Given the description of an element on the screen output the (x, y) to click on. 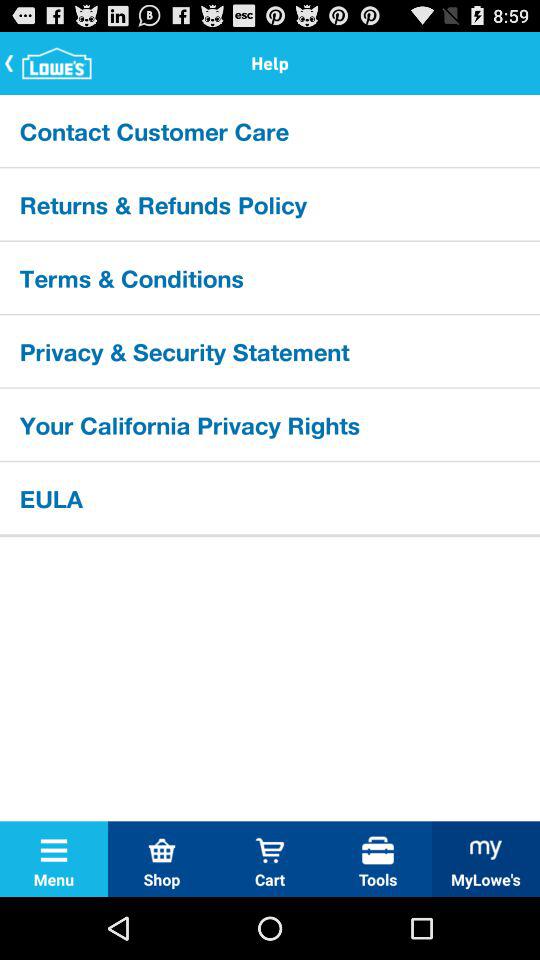
select your california privacy (270, 424)
